Given the description of an element on the screen output the (x, y) to click on. 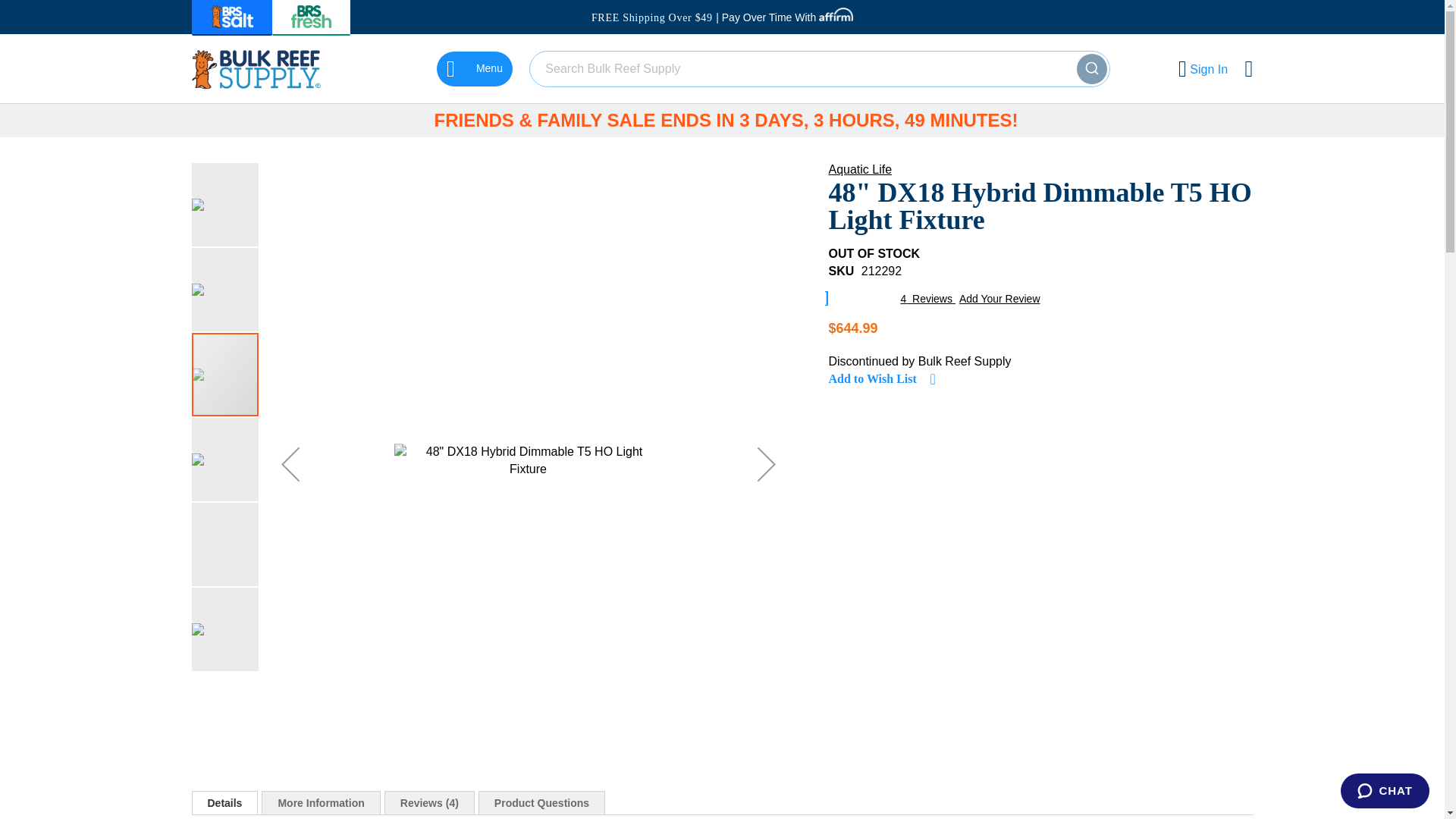
Submit (1091, 69)
Bulk Reef Supply (255, 67)
